Given the description of an element on the screen output the (x, y) to click on. 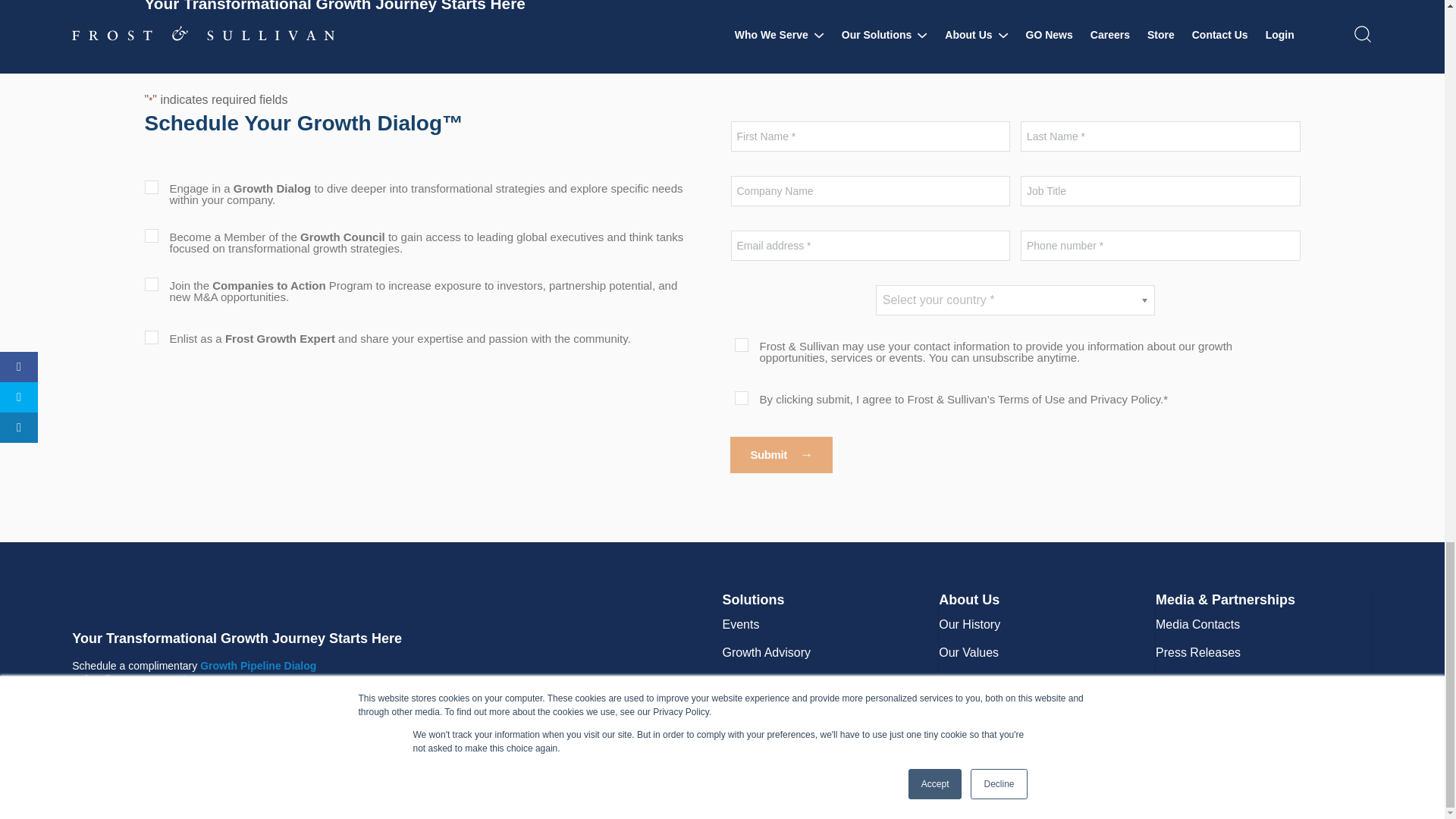
frostsullivanlogo (223, 601)
